Given the description of an element on the screen output the (x, y) to click on. 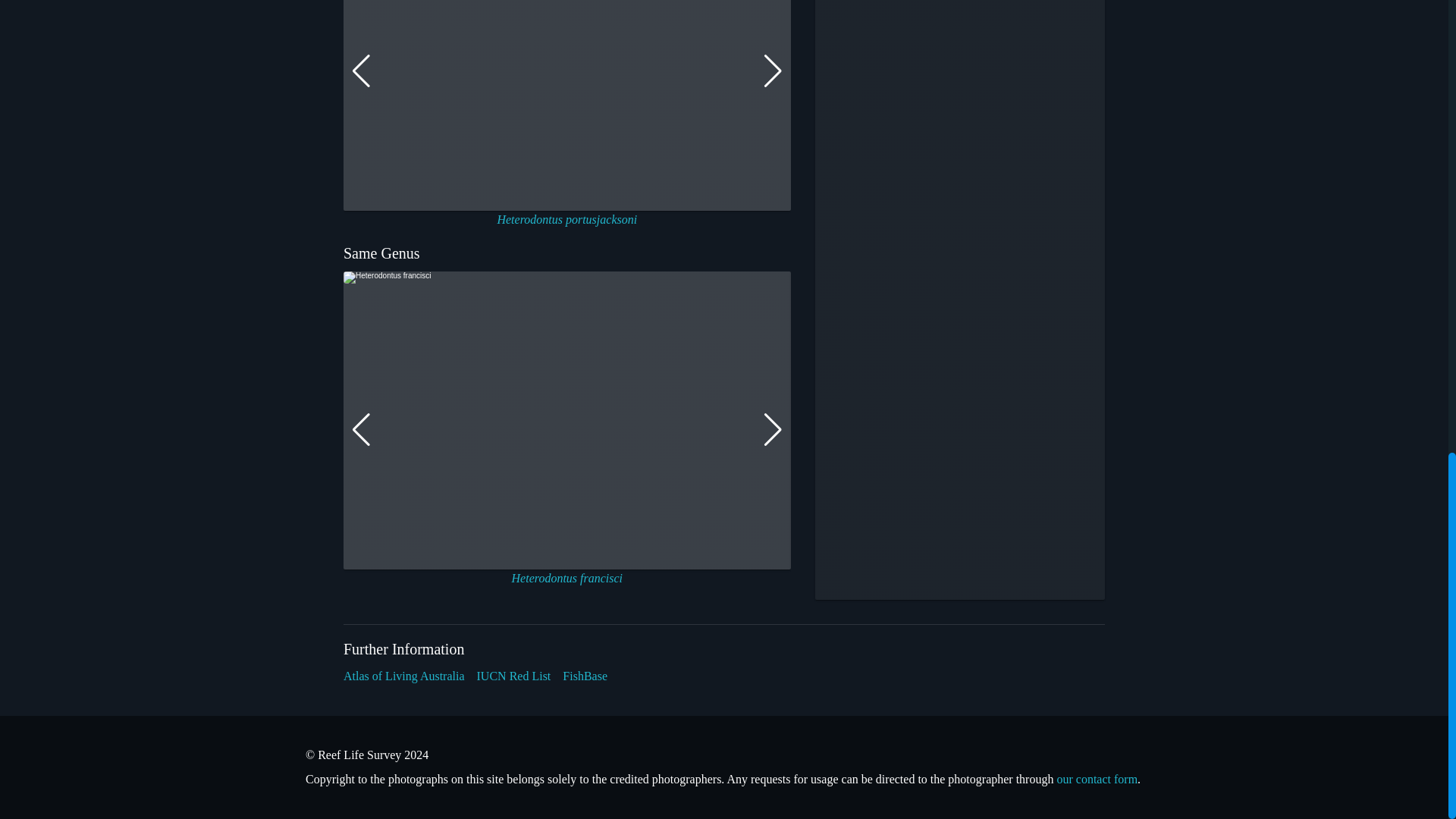
Atlas of Living Australia (403, 675)
FishBase (584, 675)
Heterodontus francisci (567, 577)
Heterodontus portusjacksoni (566, 219)
our contact form (1097, 779)
IUCN Red List (514, 675)
